Given the description of an element on the screen output the (x, y) to click on. 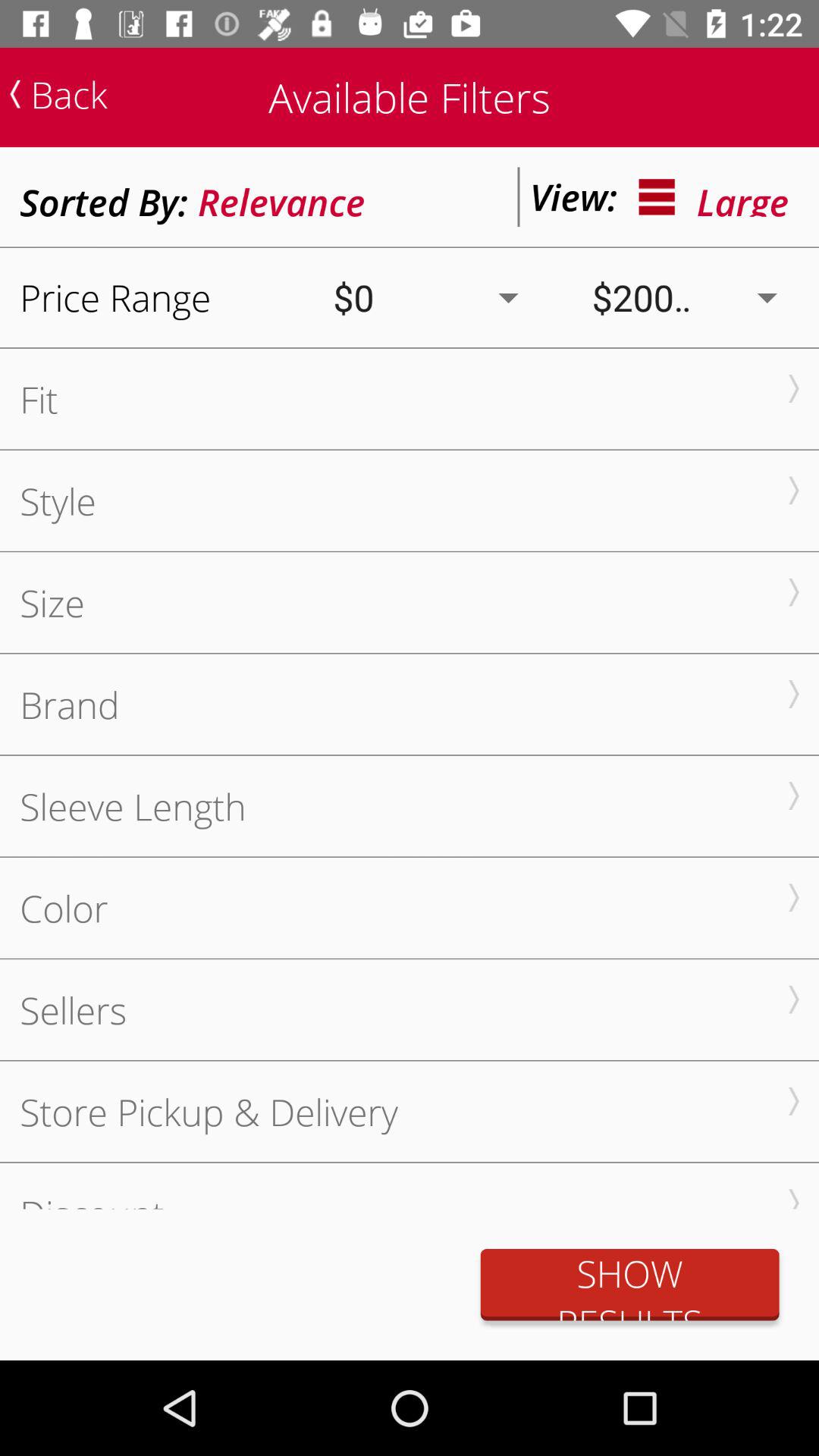
click show results item (629, 1284)
